Given the description of an element on the screen output the (x, y) to click on. 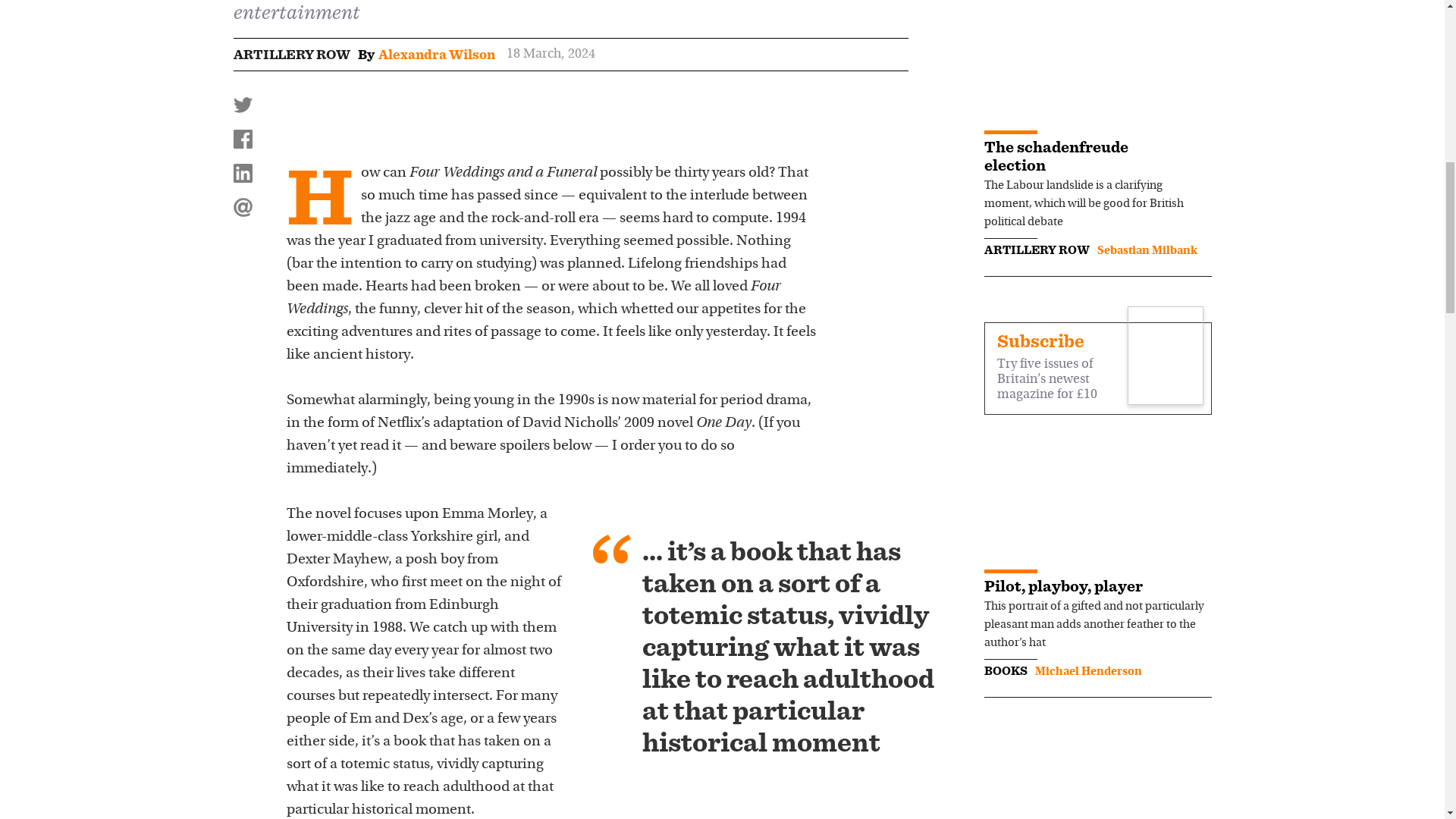
ARTILLERY ROW (291, 54)
Posts by Michael Henderson (1087, 671)
Posts by Sebastian Milbank (1146, 250)
Posts by Alexandra Wilson (436, 54)
Alexandra Wilson (436, 54)
